Given the description of an element on the screen output the (x, y) to click on. 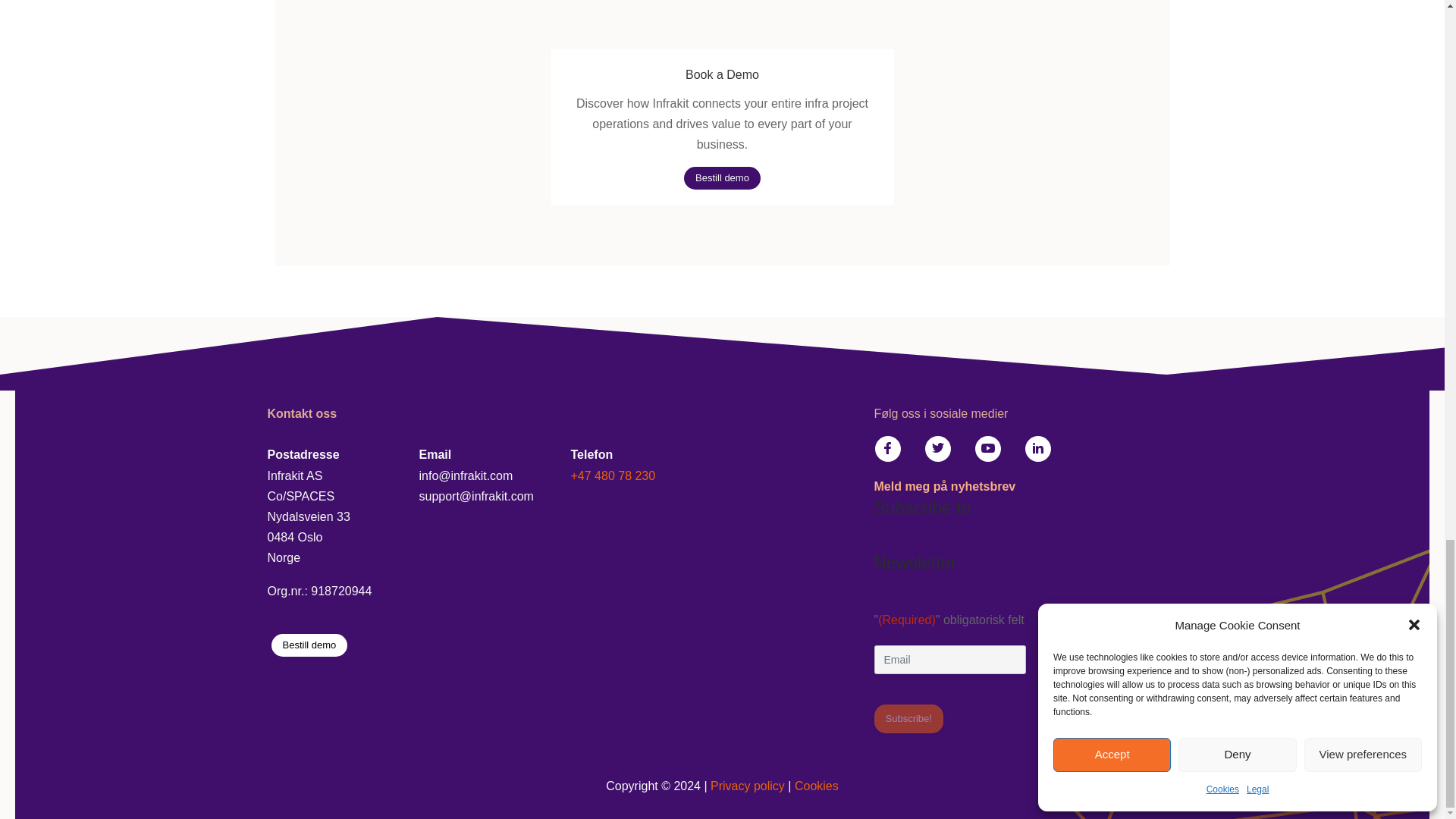
Bestill demo (308, 644)
Bestill demo (722, 178)
Bestill demo (721, 176)
Subscribe! (907, 718)
footer (722, 353)
